Given the description of an element on the screen output the (x, y) to click on. 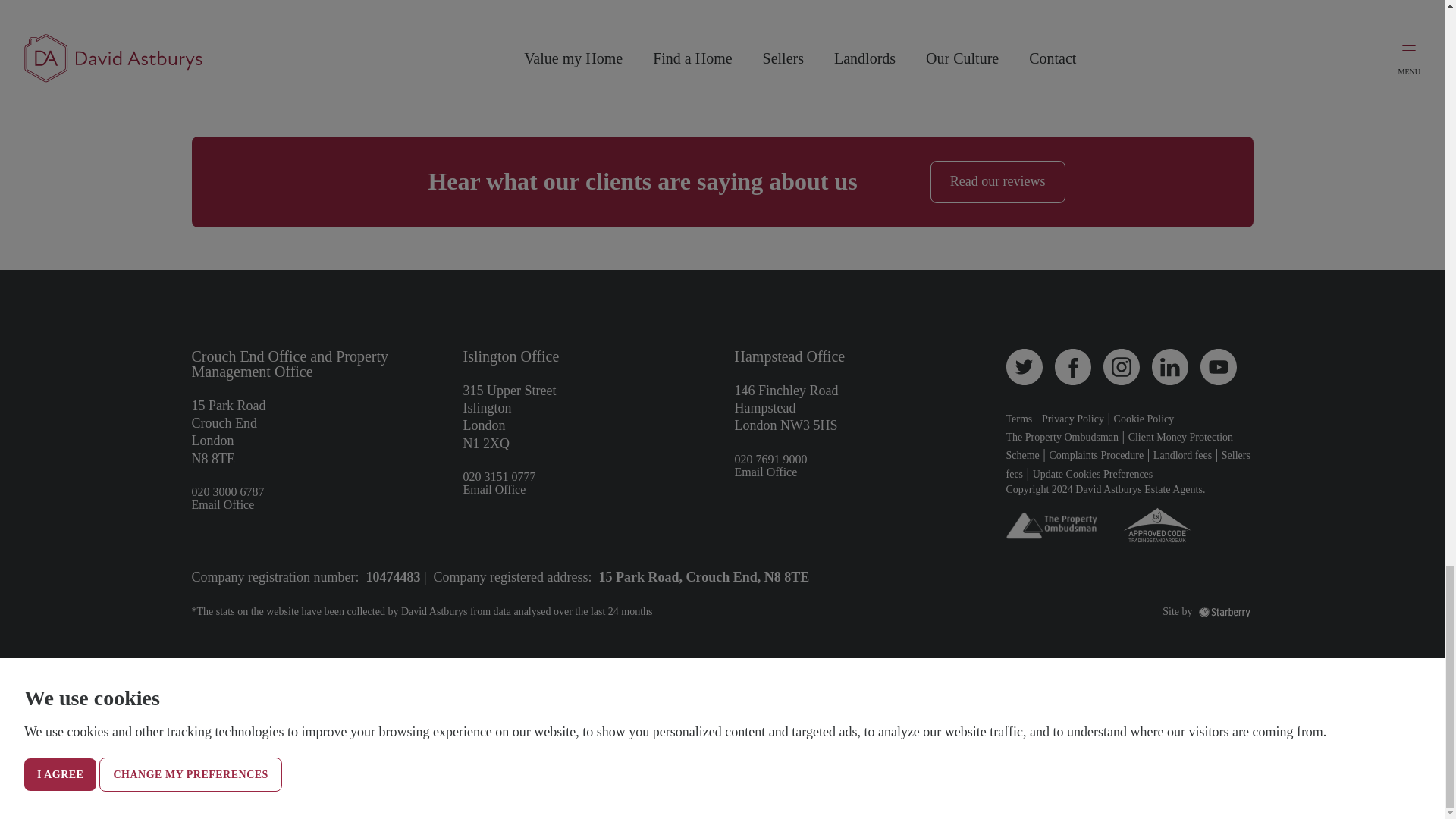
020 3000 6787 (226, 492)
020 3151 0777 (499, 477)
Email Office (221, 504)
Islington Office (511, 356)
Crouch End Office and Property Management Office (289, 364)
Read our reviews (997, 181)
